Given the description of an element on the screen output the (x, y) to click on. 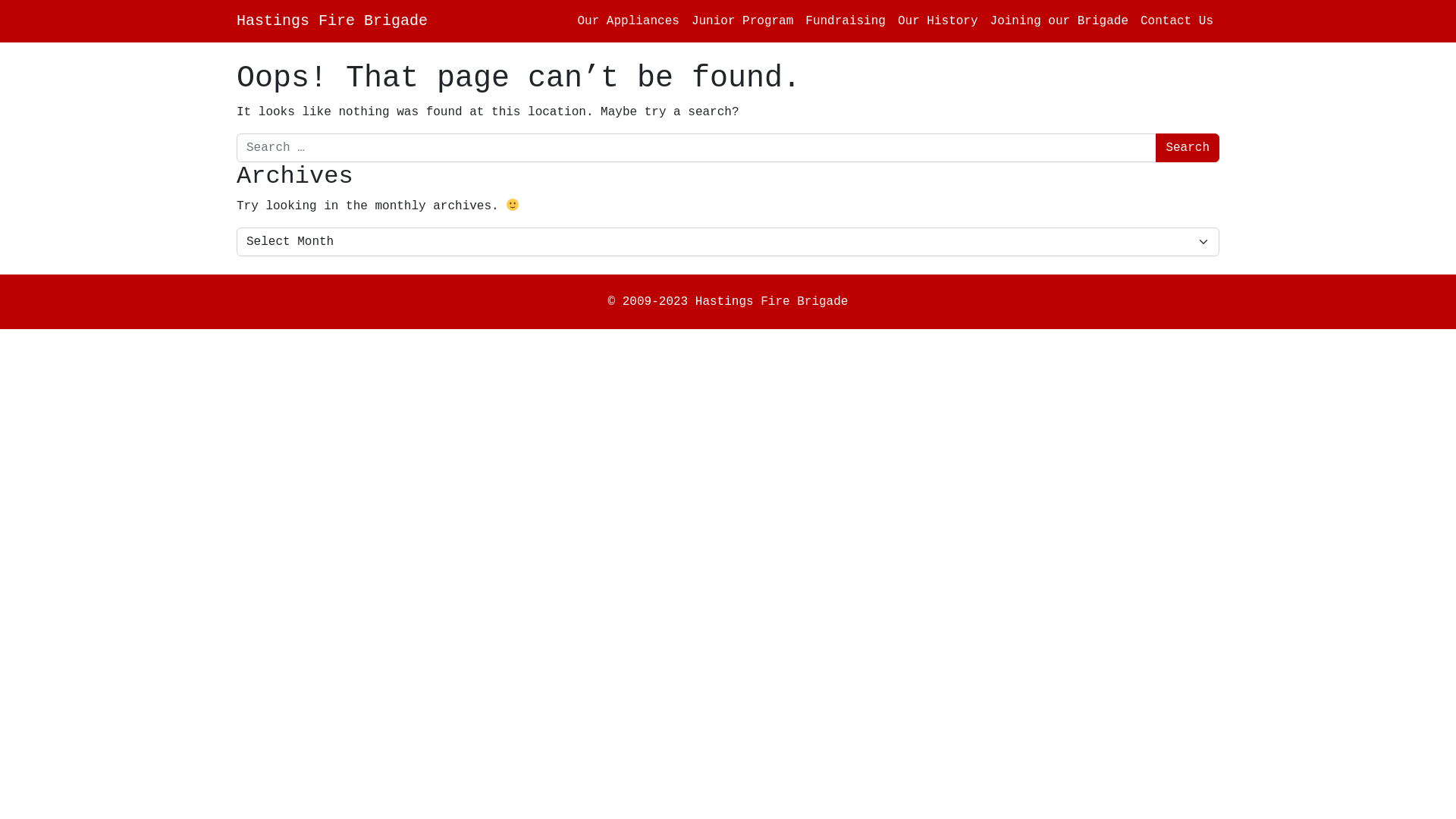
Hastings Fire Brigade Element type: text (331, 21)
Our History Element type: text (937, 21)
Joining our Brigade Element type: text (1059, 21)
Search Element type: text (1187, 147)
Fundraising Element type: text (845, 21)
Our Appliances Element type: text (627, 21)
Junior Program Element type: text (742, 21)
Contact Us Element type: text (1176, 21)
